Given the description of an element on the screen output the (x, y) to click on. 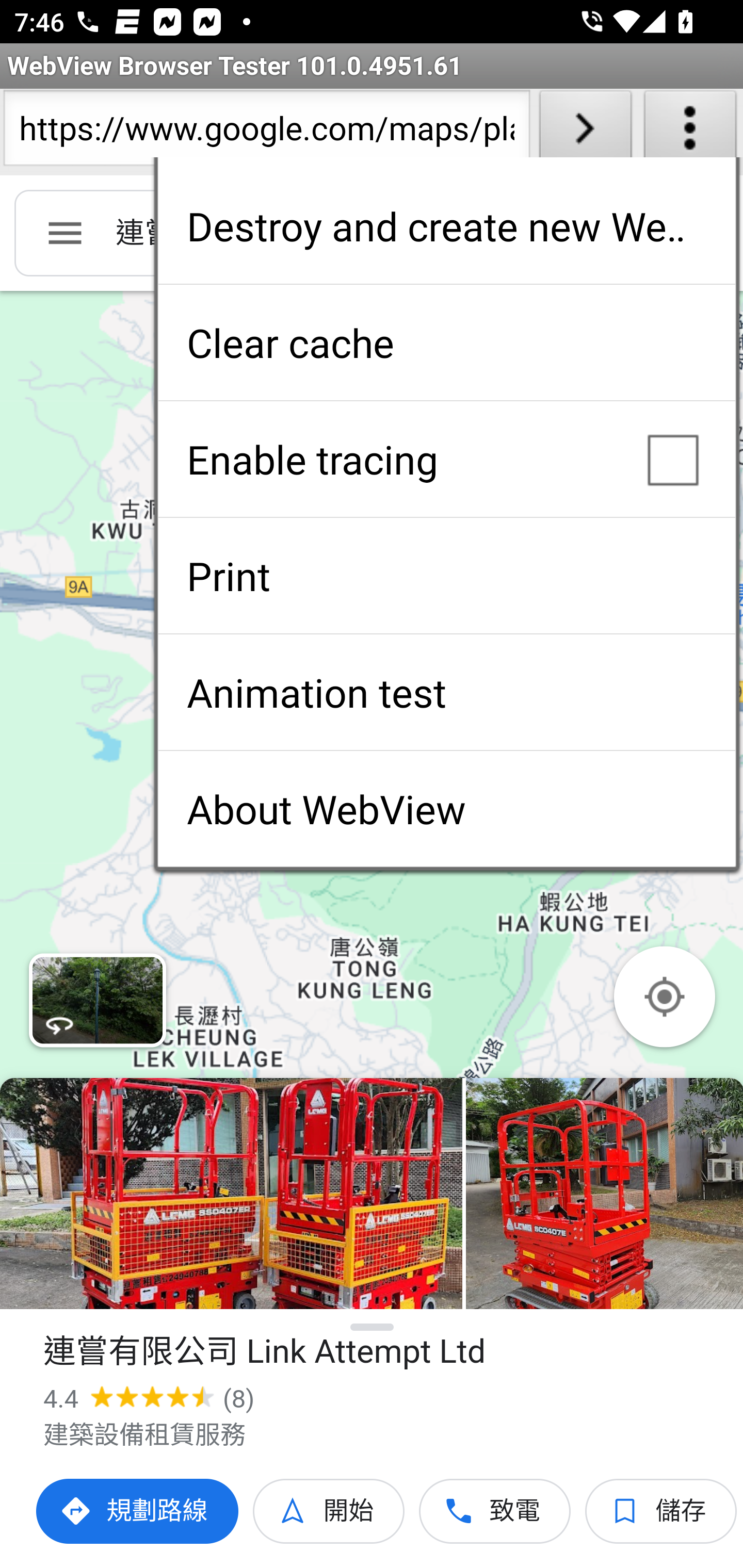
Destroy and create new WebView (446, 225)
Clear cache (446, 342)
Enable tracing (446, 459)
Print (446, 575)
Animation test (446, 692)
About WebView (446, 809)
